Given the description of an element on the screen output the (x, y) to click on. 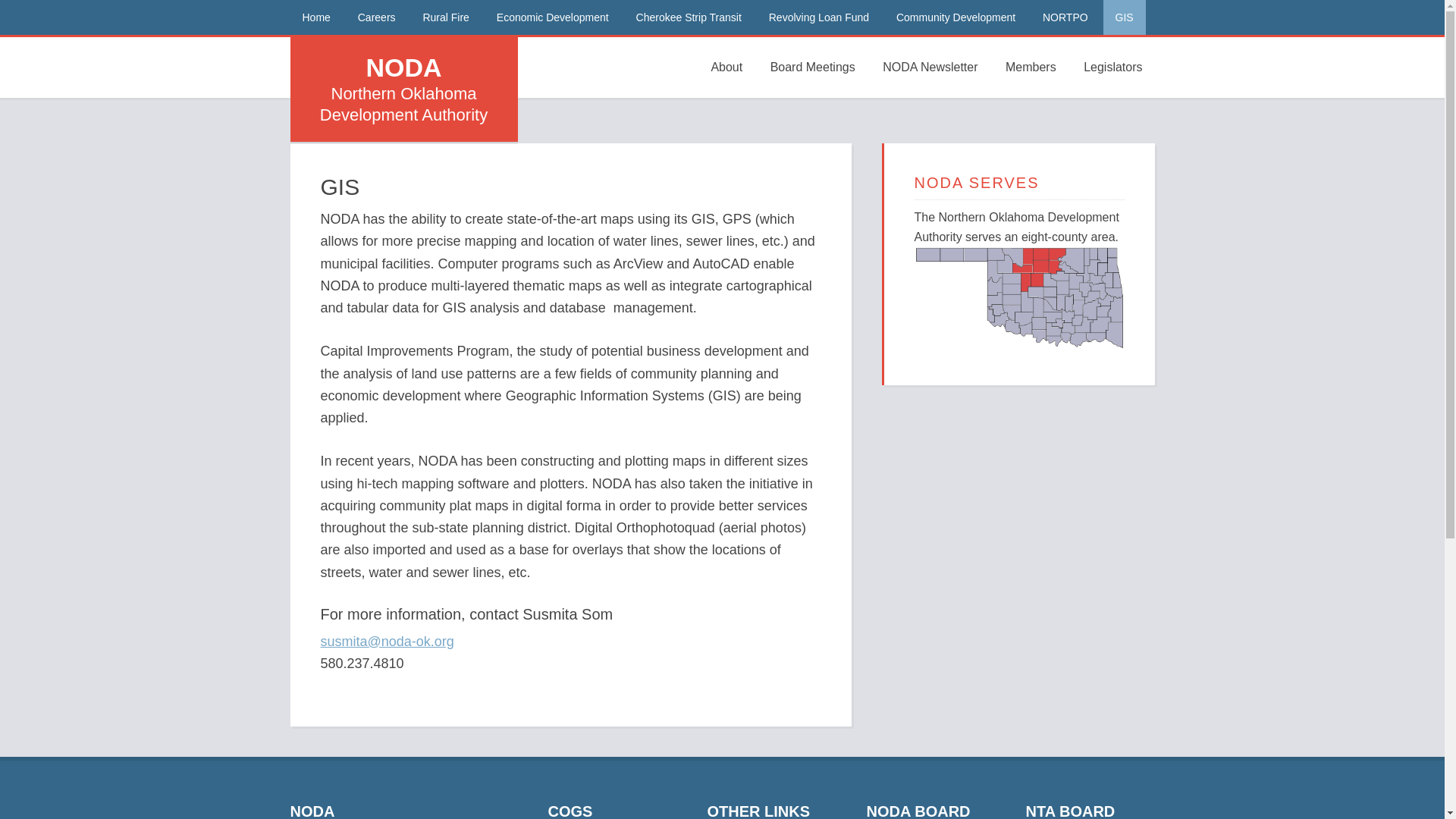
Board Meetings (812, 66)
NORTPO (1065, 17)
Cherokee Strip Transit (689, 17)
NODA (403, 67)
About (726, 66)
Revolving Loan Fund (818, 17)
GIS (1124, 17)
Home (315, 17)
Economic Development (552, 17)
Careers (376, 17)
Community Development (955, 17)
Rural Fire (445, 17)
